Given the description of an element on the screen output the (x, y) to click on. 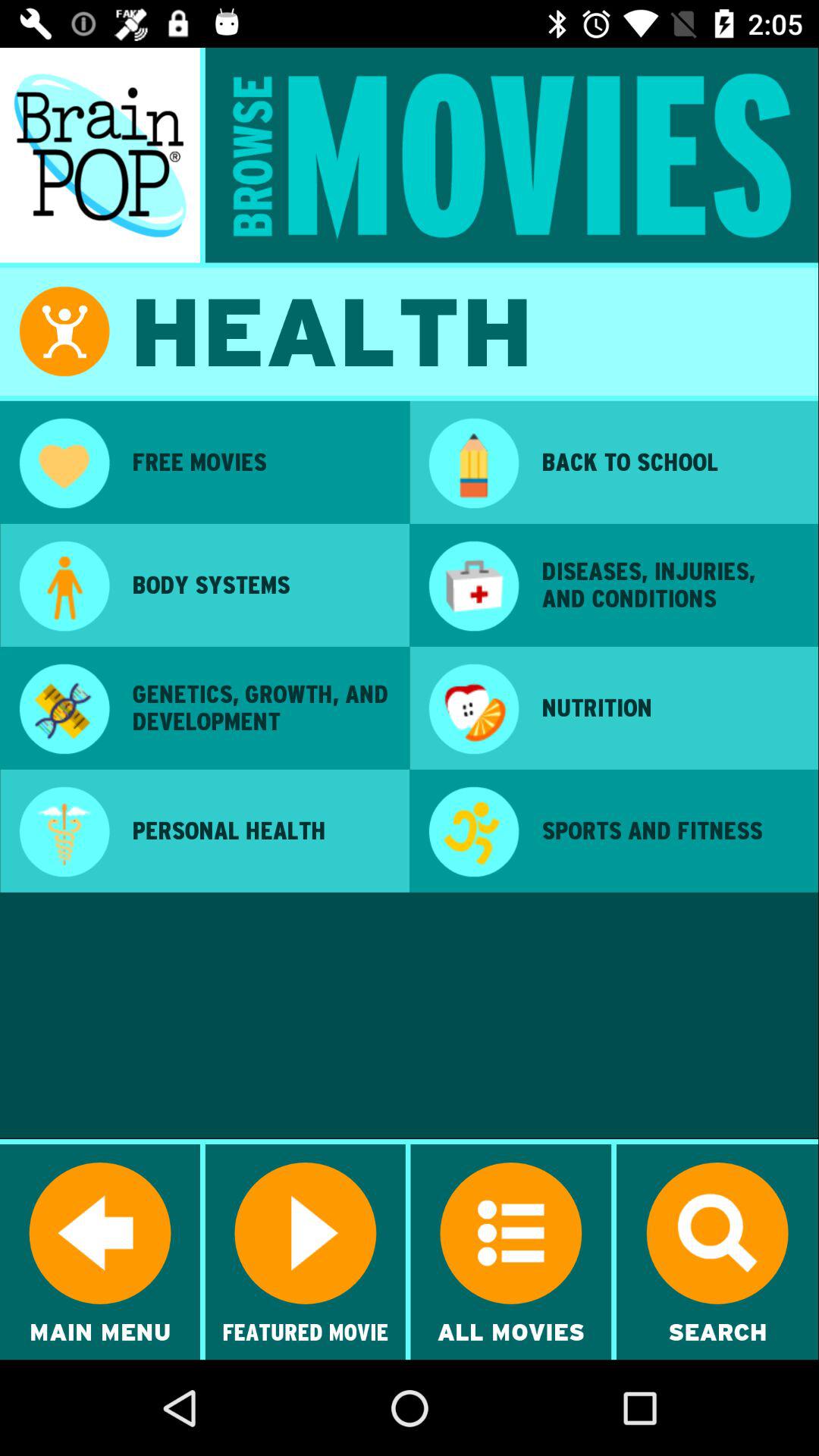
press the icon next to genetics growth and (473, 710)
